Given the description of an element on the screen output the (x, y) to click on. 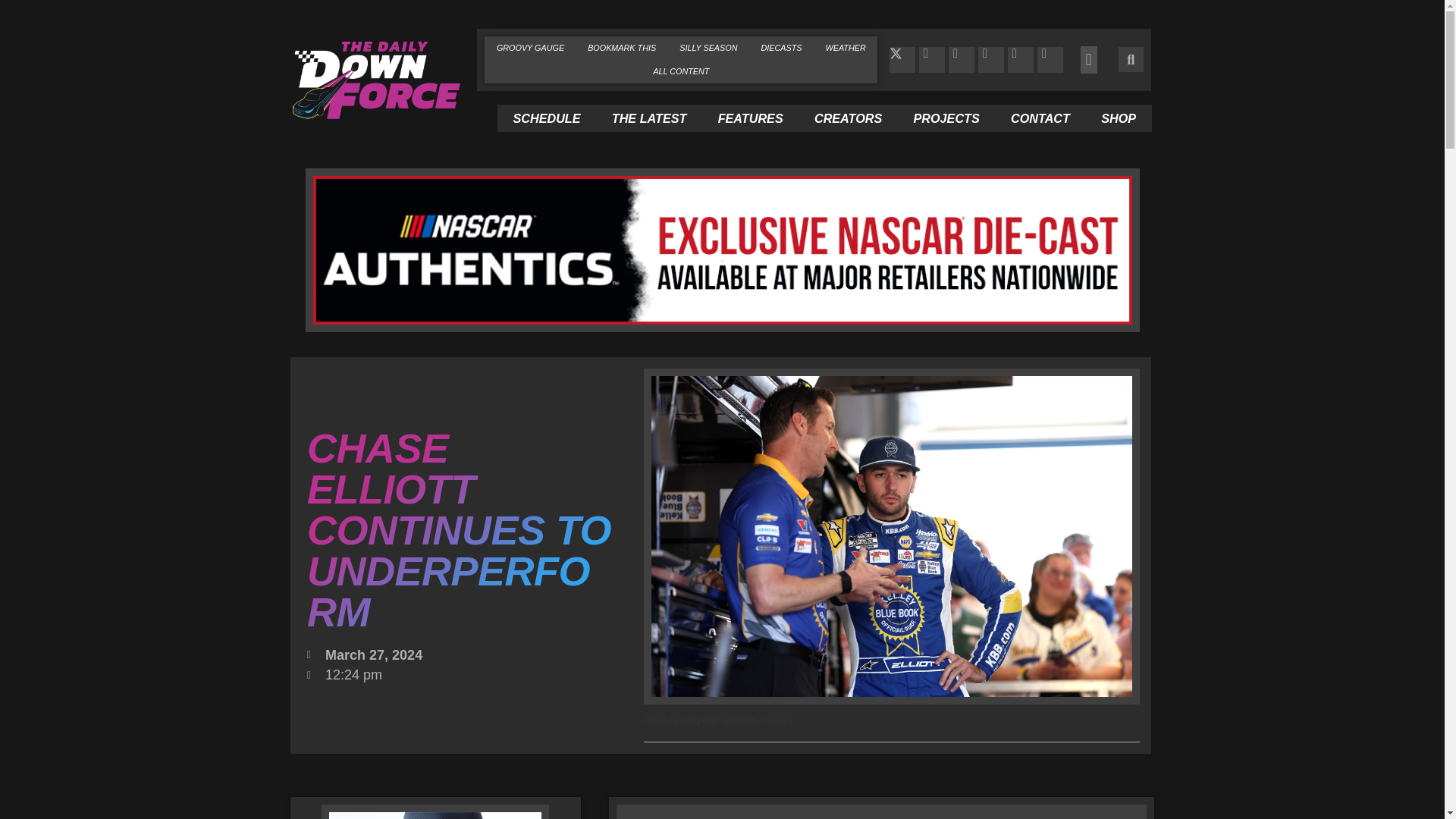
FEATURES (749, 117)
GROOVY GAUGE (529, 47)
WEATHER (845, 47)
DIECASTS (781, 47)
SILLY SEASON (708, 47)
THE LATEST (648, 117)
BOOKMARK THIS (622, 47)
SCHEDULE (546, 117)
ALL CONTENT (680, 71)
